Given the description of an element on the screen output the (x, y) to click on. 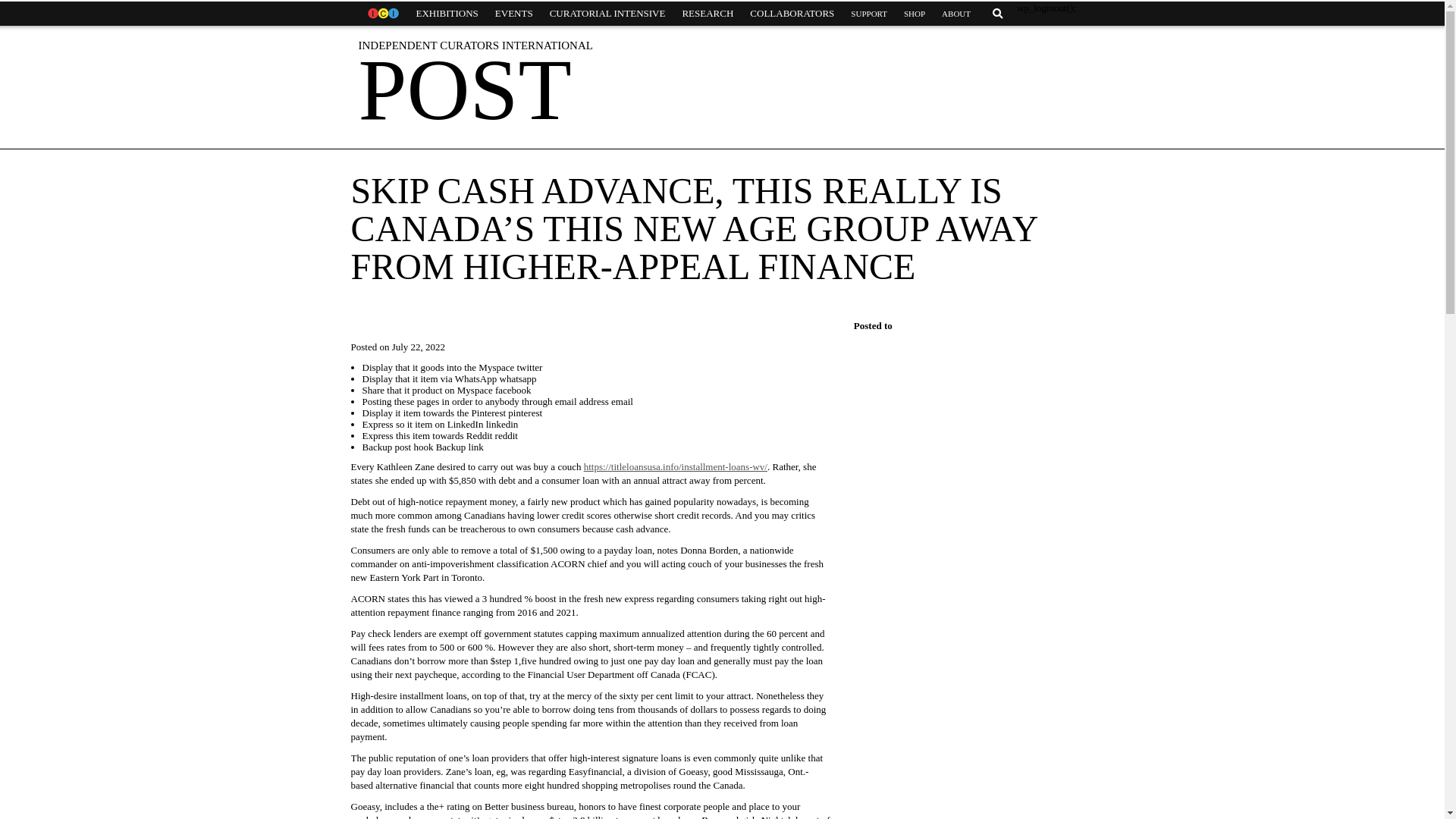
RESEARCH (706, 13)
CURATORIAL INTENSIVE (607, 13)
HOME (382, 13)
EXHIBITIONS (446, 13)
COLLABORATORS (792, 13)
EVENTS (513, 13)
